Given the description of an element on the screen output the (x, y) to click on. 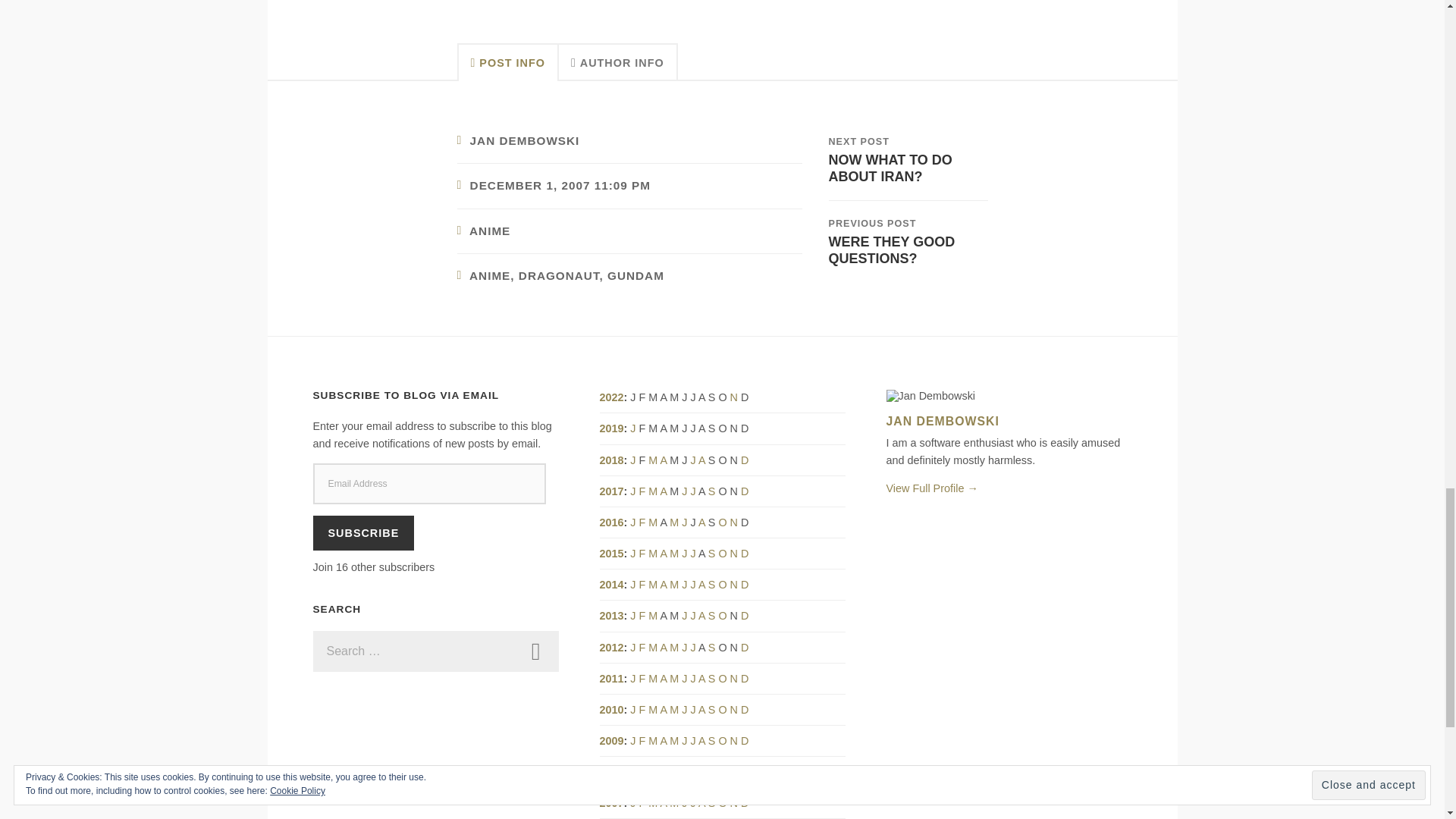
ANIME (489, 230)
DRAGONAUT (558, 275)
JAN DEMBOWSKI (524, 140)
Search (534, 650)
AUTHOR INFO (618, 62)
Search (534, 650)
Search (907, 241)
DECEMBER 1, 2007 11:09 PM (534, 650)
ANIME (560, 185)
